Given the description of an element on the screen output the (x, y) to click on. 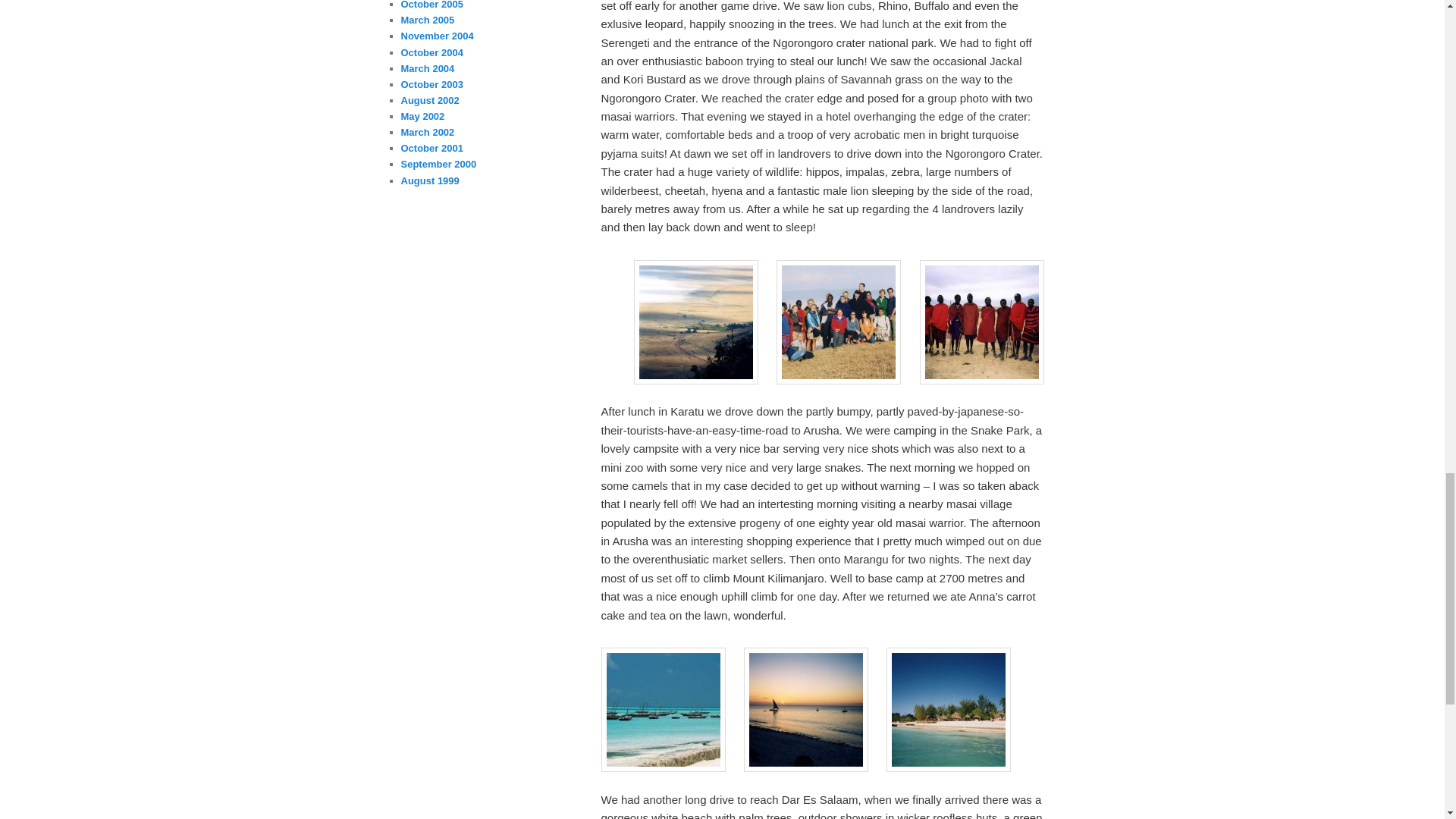
beach1 (948, 709)
craterview1 (695, 322)
groupcrater (838, 322)
zansunset (805, 709)
zanzibar (662, 709)
warriors (980, 322)
